Given the description of an element on the screen output the (x, y) to click on. 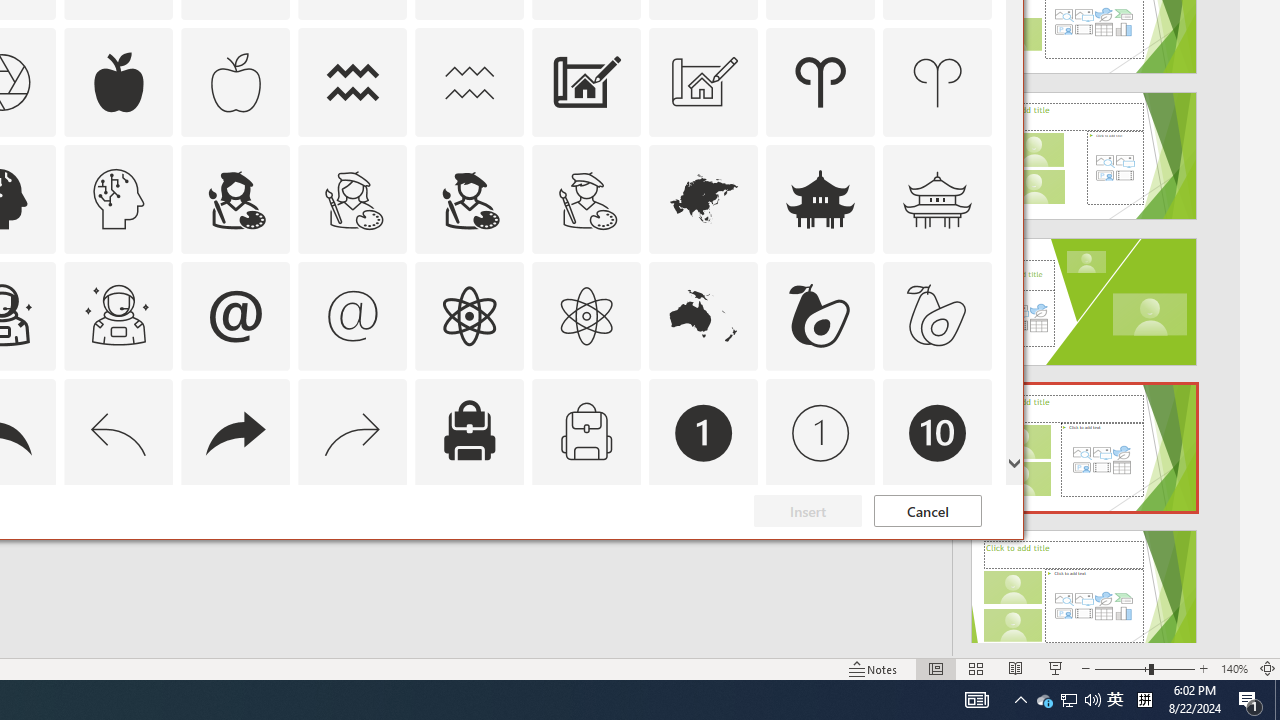
AutomationID: Icons_At_M (353, 316)
AutomationID: Icons_ArtificialIntelligence_M (118, 198)
AutomationID: Icons_Avocado (820, 316)
AutomationID: Icons_Badge7_M (469, 550)
AutomationID: Icons_Asia (703, 198)
